Given the description of an element on the screen output the (x, y) to click on. 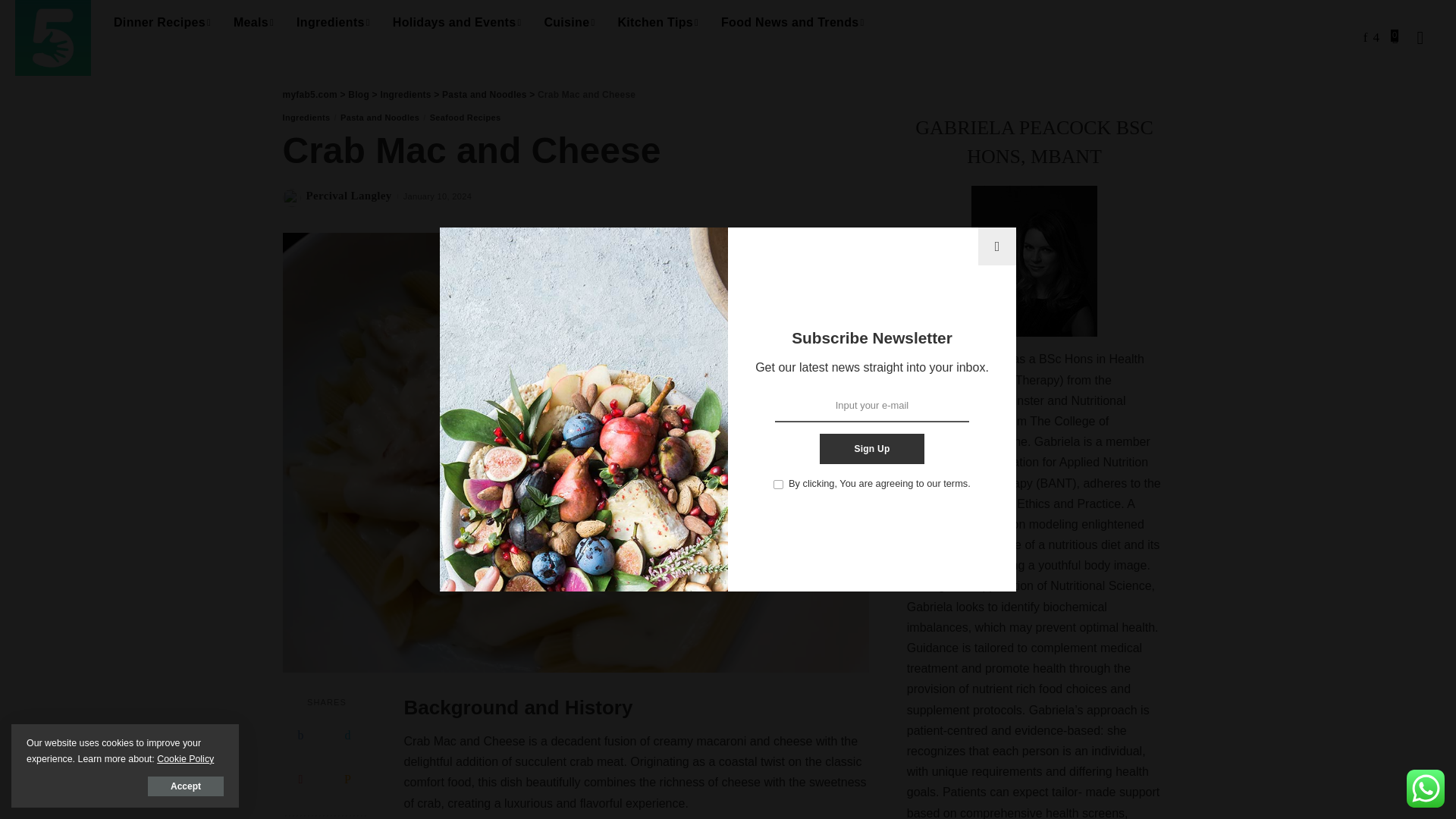
Sign Up (871, 449)
Go to Blog. (358, 94)
Go to the Ingredients Category archives. (405, 94)
Twitter (347, 735)
Go to myfab5.com. (309, 94)
Facebook (300, 735)
Go to the Pasta and Noodles Category archives. (483, 94)
myfab5.com (52, 38)
